Given the description of an element on the screen output the (x, y) to click on. 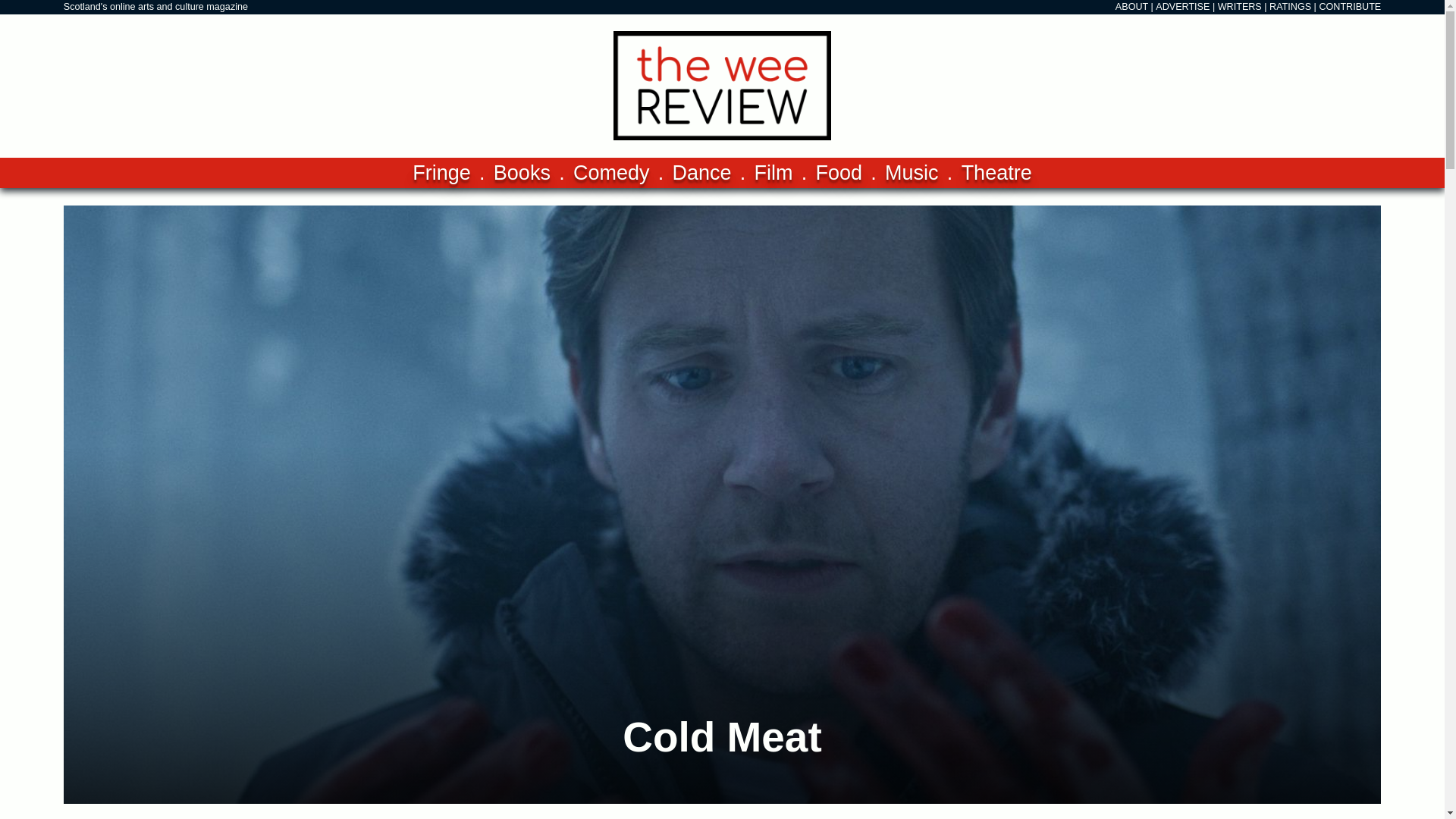
Books (521, 172)
Dance (701, 172)
Film (772, 172)
CONTRIBUTE (1349, 6)
Fringe (441, 172)
Comedy (611, 172)
RATINGS (1290, 6)
WRITERS (1239, 6)
Food (838, 172)
ABOUT (1131, 6)
ADVERTISE (1182, 6)
Theatre (996, 172)
Music (911, 172)
